Given the description of an element on the screen output the (x, y) to click on. 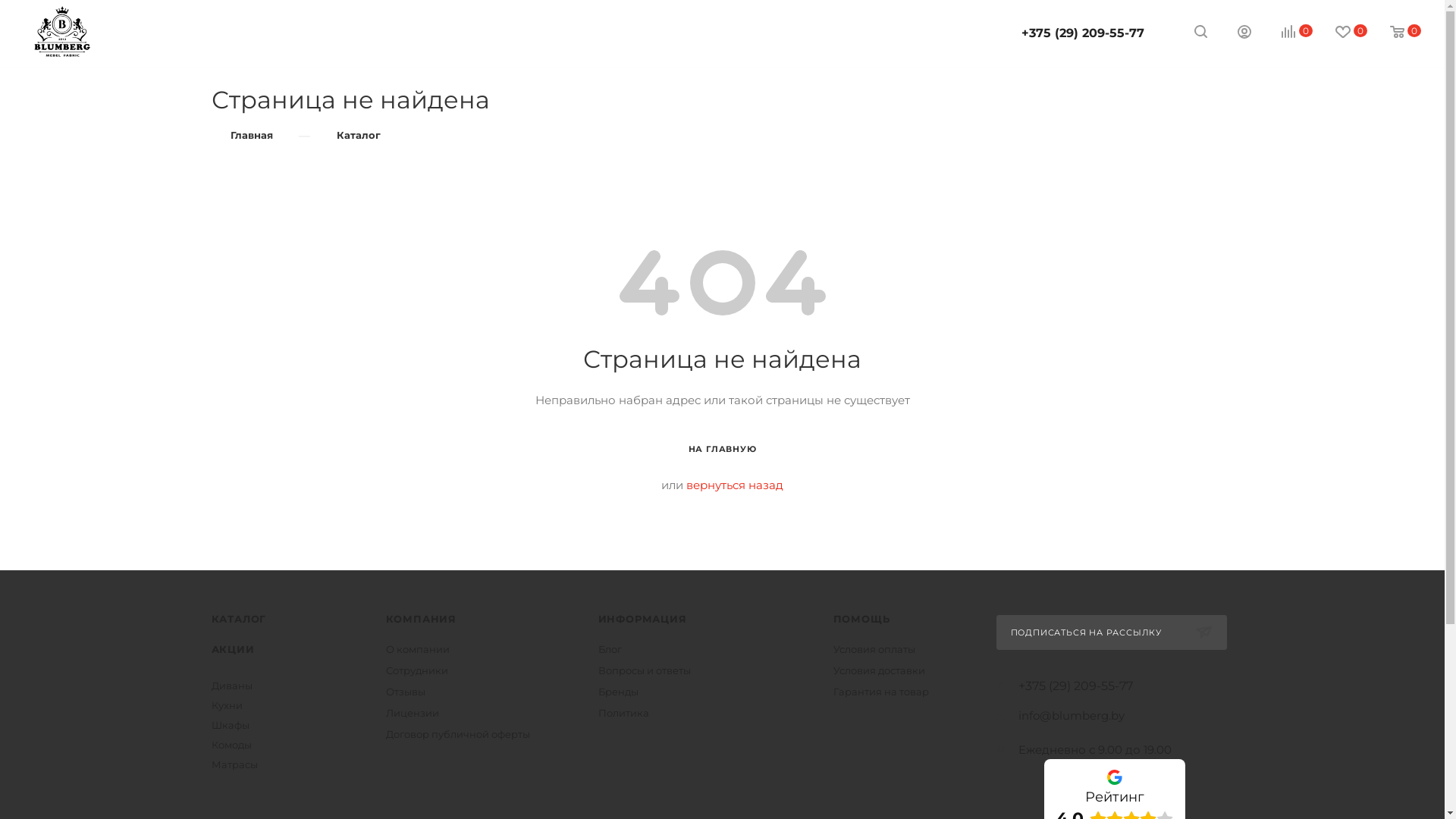
0 Element type: text (1394, 31)
+375 (29) 209-55-77 Element type: text (1082, 32)
info@blumberg.by Element type: text (1070, 715)
0 Element type: text (1286, 31)
+375 (29) 209-55-77 Element type: text (1074, 686)
0 Element type: text (1340, 31)
